Given the description of an element on the screen output the (x, y) to click on. 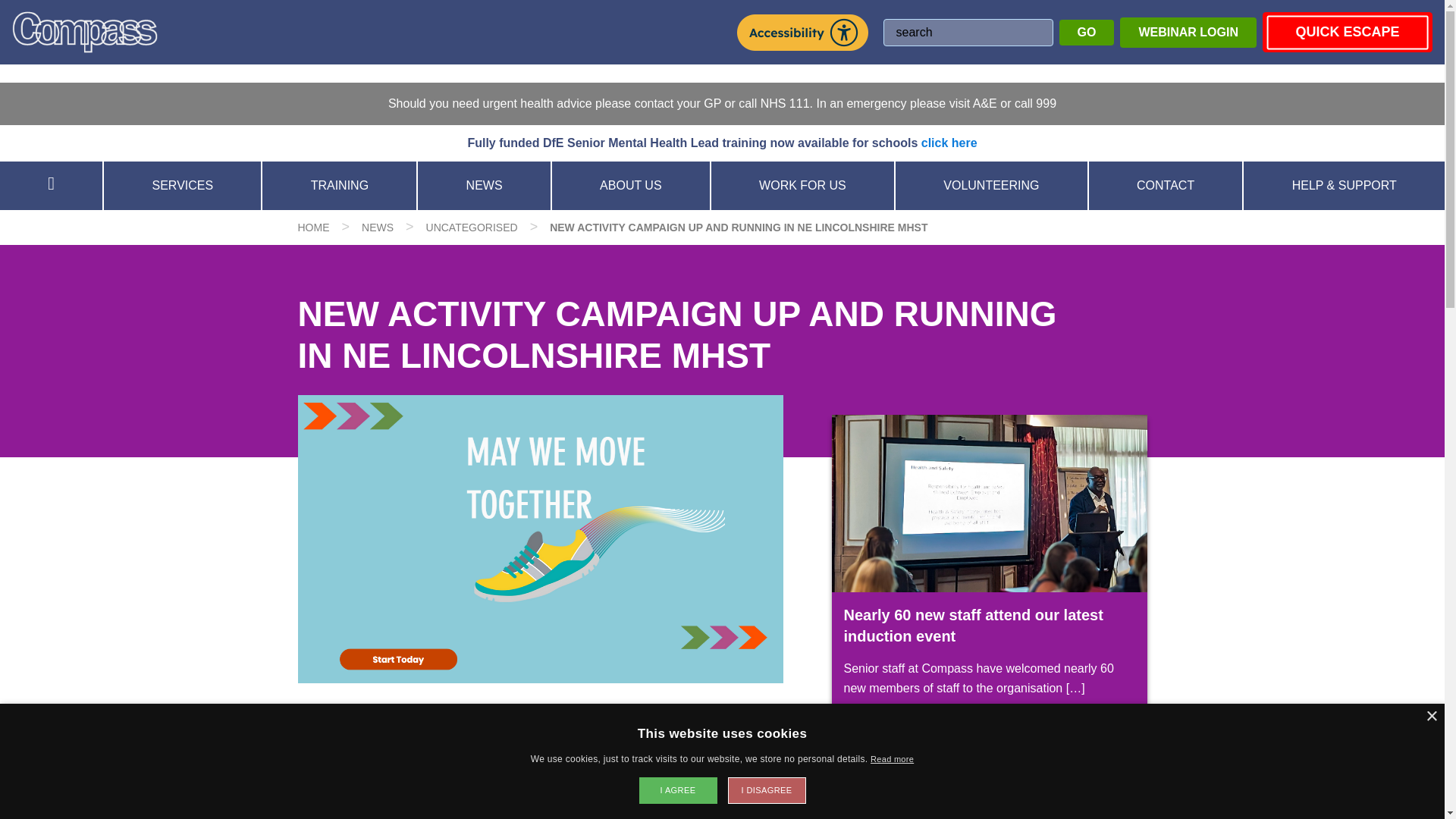
NEWS (377, 227)
UNCATEGORISED (472, 227)
QUICK ESCAPE (1347, 32)
New activity campaign up and running in NE Lincolnshire MHST (738, 227)
WORK FOR US (802, 185)
NEWS (483, 185)
VOLUNTEERING (991, 185)
GO (1087, 32)
Home (313, 227)
WEBINAR LOGIN (1187, 31)
CONTACT (1166, 185)
News (377, 227)
TRAINING (339, 185)
ABOUT US (630, 185)
HOME (313, 227)
